Given the description of an element on the screen output the (x, y) to click on. 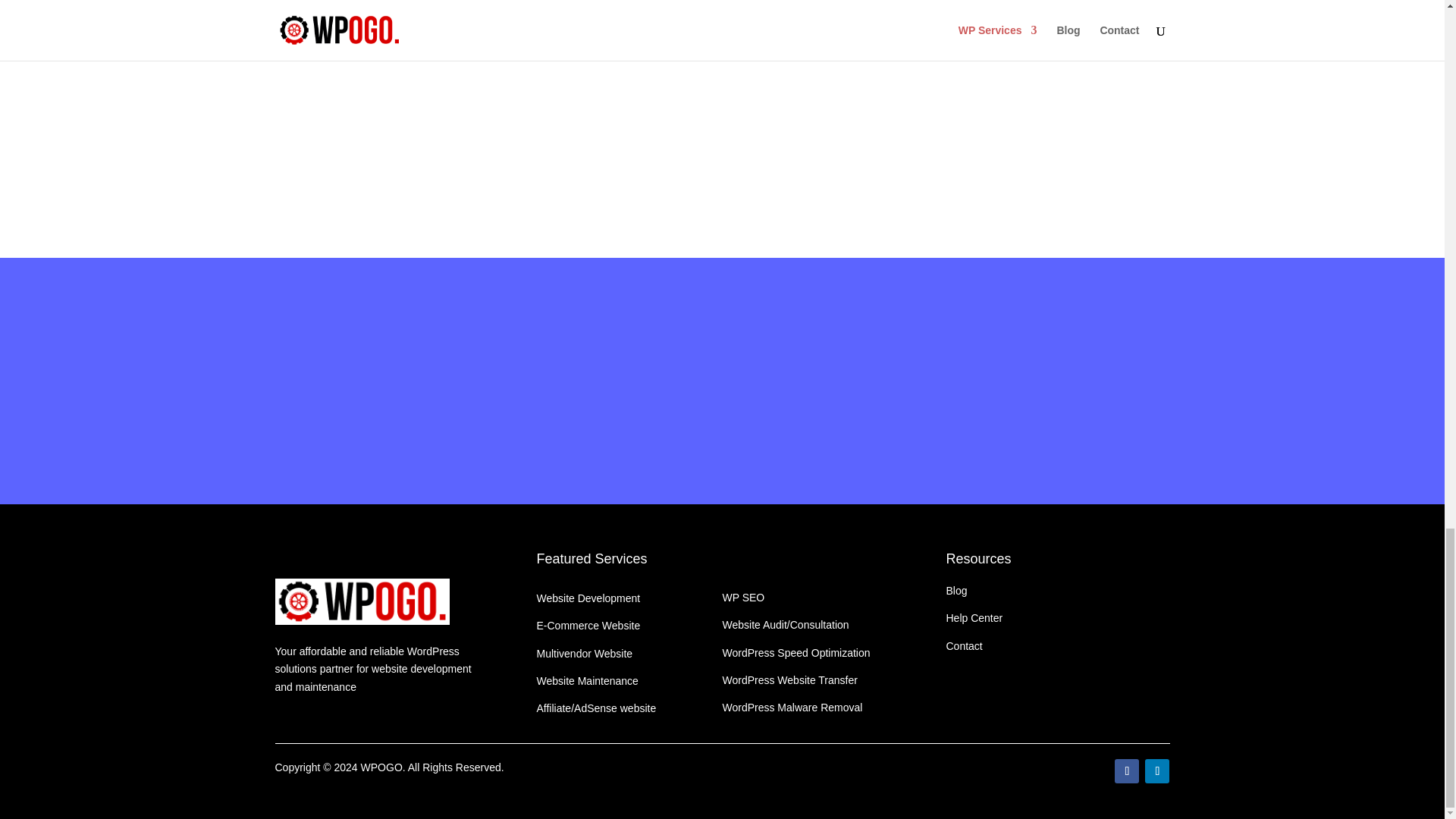
WordPress Malware Removal (791, 707)
WP SEO (743, 597)
WordPress Website Transfer (789, 680)
WordPress Speed Optimization (795, 653)
Website Maintenance (588, 680)
WPOGO-wordpress-website-development-maintenance-service (361, 601)
Follow on Facebook (1126, 770)
E-Commerce Website (588, 625)
Website Development (588, 598)
Multivendor Website (585, 653)
Follow on LinkedIn (1156, 770)
